Given the description of an element on the screen output the (x, y) to click on. 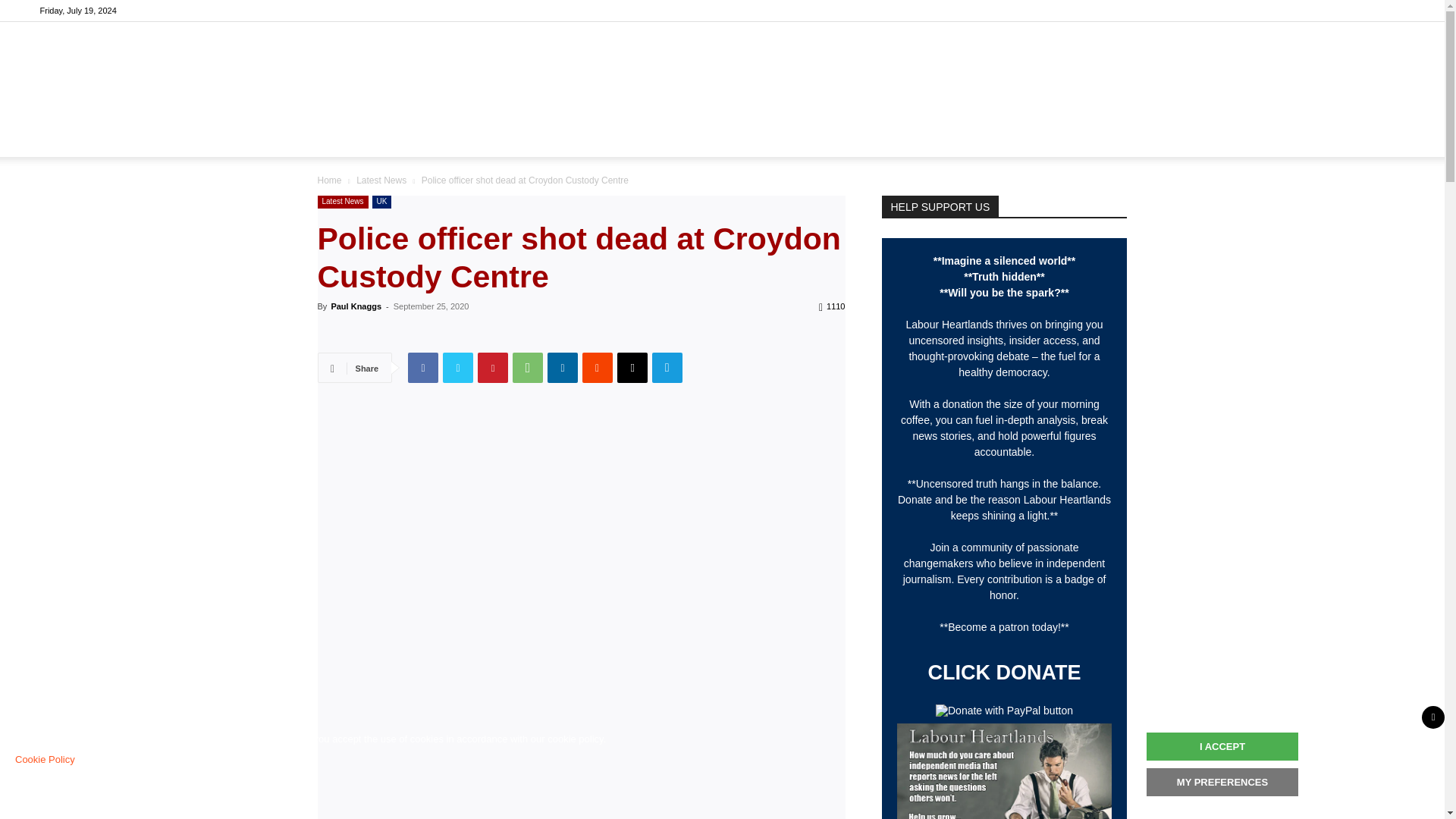
topFacebookLike (430, 333)
Telegram (1301, 138)
Twitter (1327, 138)
HOME (404, 138)
Facebook (1250, 138)
Youtube (1353, 138)
Paypal (1276, 138)
POLITICS (472, 138)
View all posts in Latest News (381, 180)
